Given the description of an element on the screen output the (x, y) to click on. 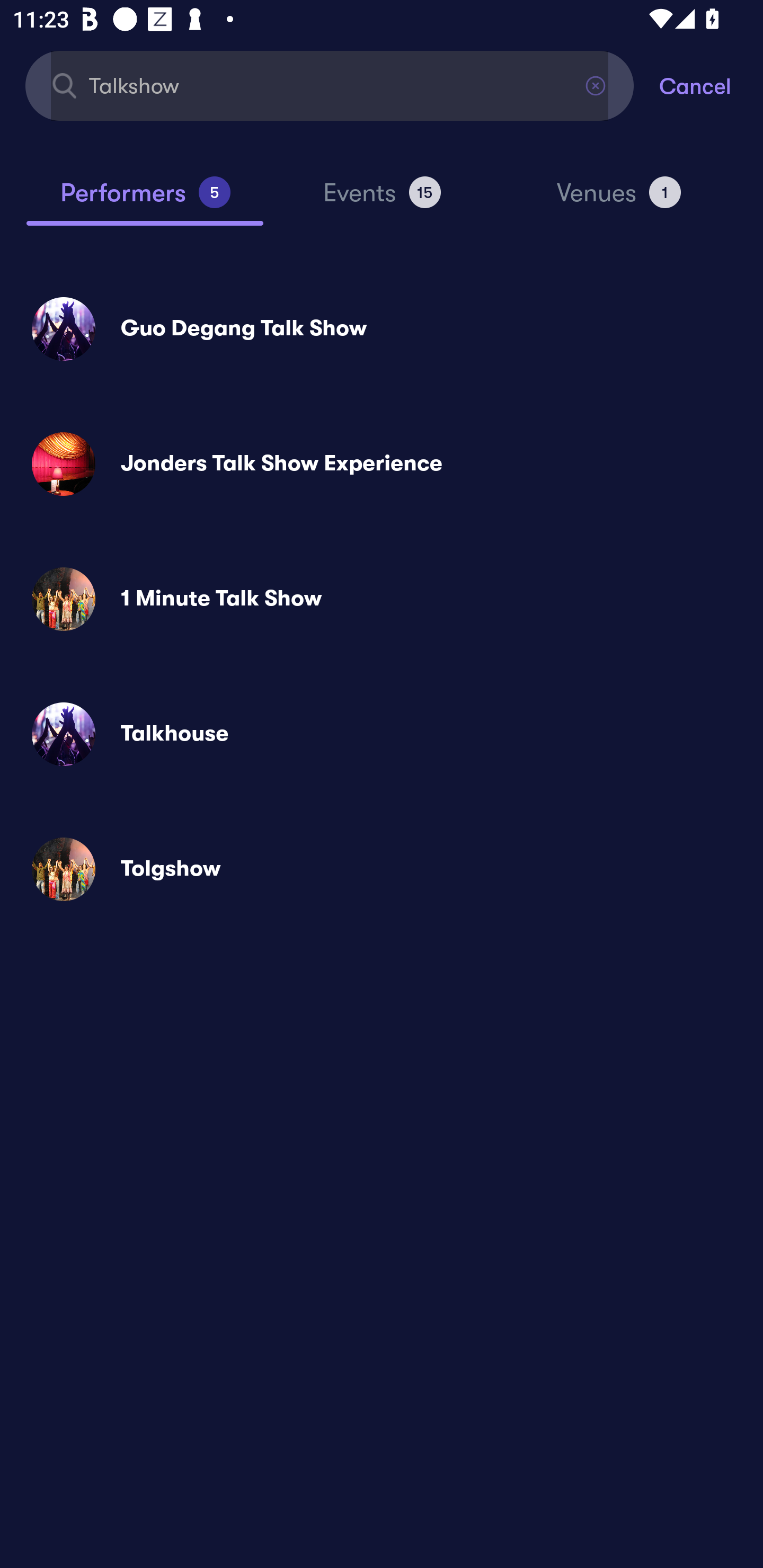
Talkshow Find (329, 85)
Talkshow Find (329, 85)
Cancel (711, 85)
Performers 5 (144, 200)
Events 15 (381, 200)
Venues 1 (618, 200)
Guo Degang Talk Show (381, 328)
Jonders Talk Show Experience (381, 464)
1 Minute Talk Show (381, 598)
Talkhouse (381, 734)
Tolgshow (381, 869)
